Given the description of an element on the screen output the (x, y) to click on. 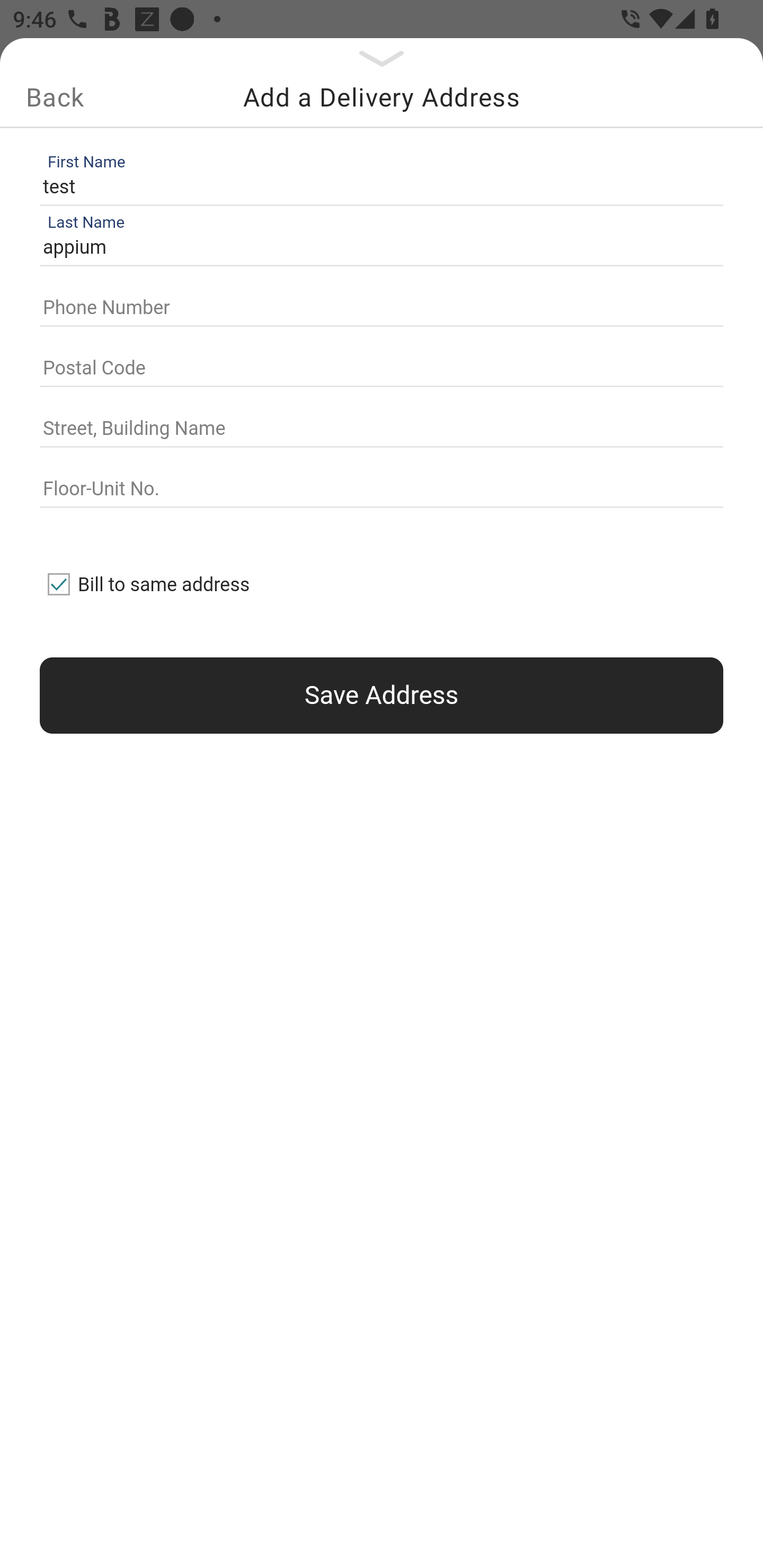
Back (54, 96)
Add a Delivery Address (381, 96)
test (377, 186)
appium (377, 247)
Save Address (381, 694)
